Given the description of an element on the screen output the (x, y) to click on. 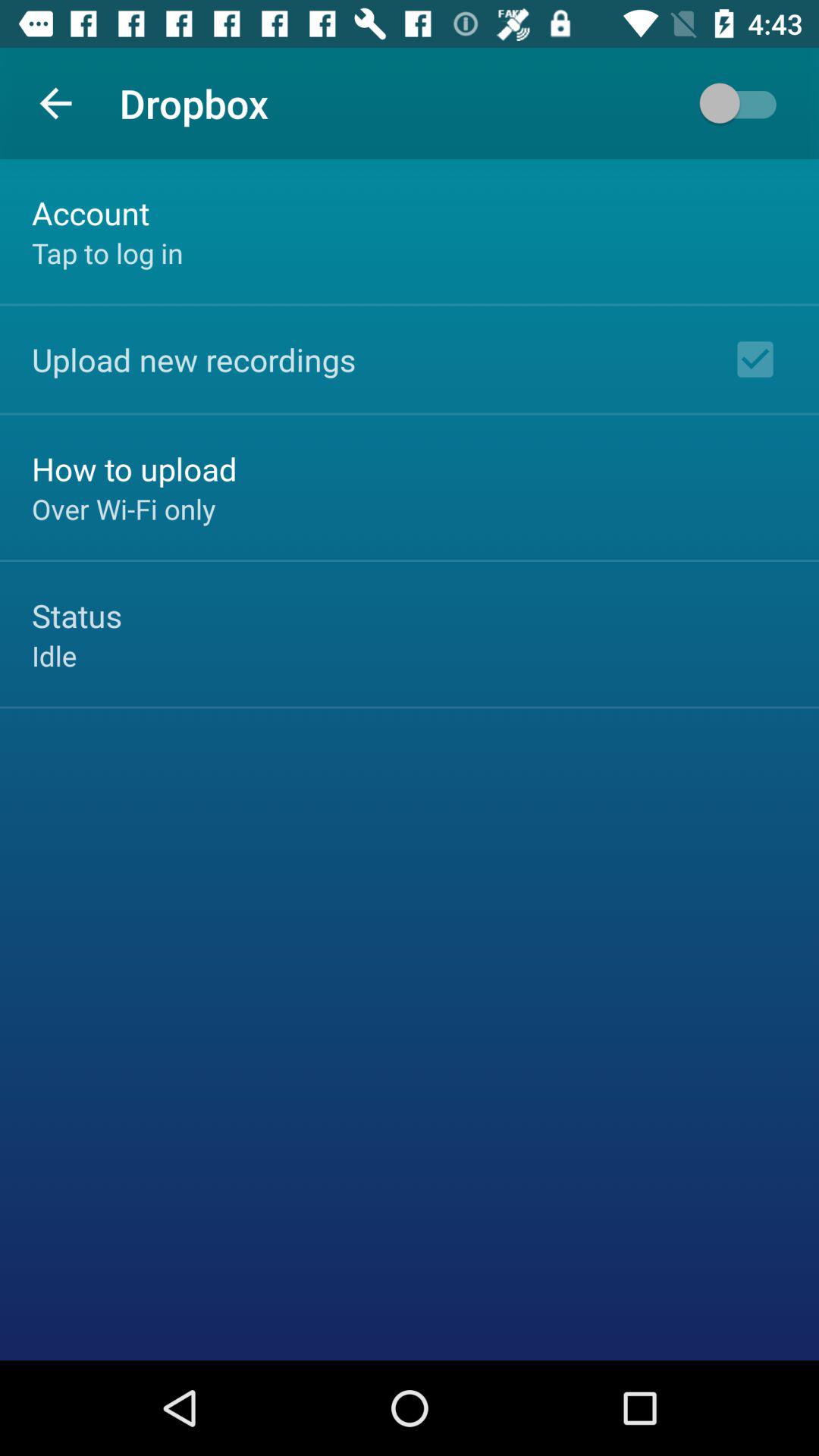
launch the icon to the right of upload new recordings (755, 359)
